Given the description of an element on the screen output the (x, y) to click on. 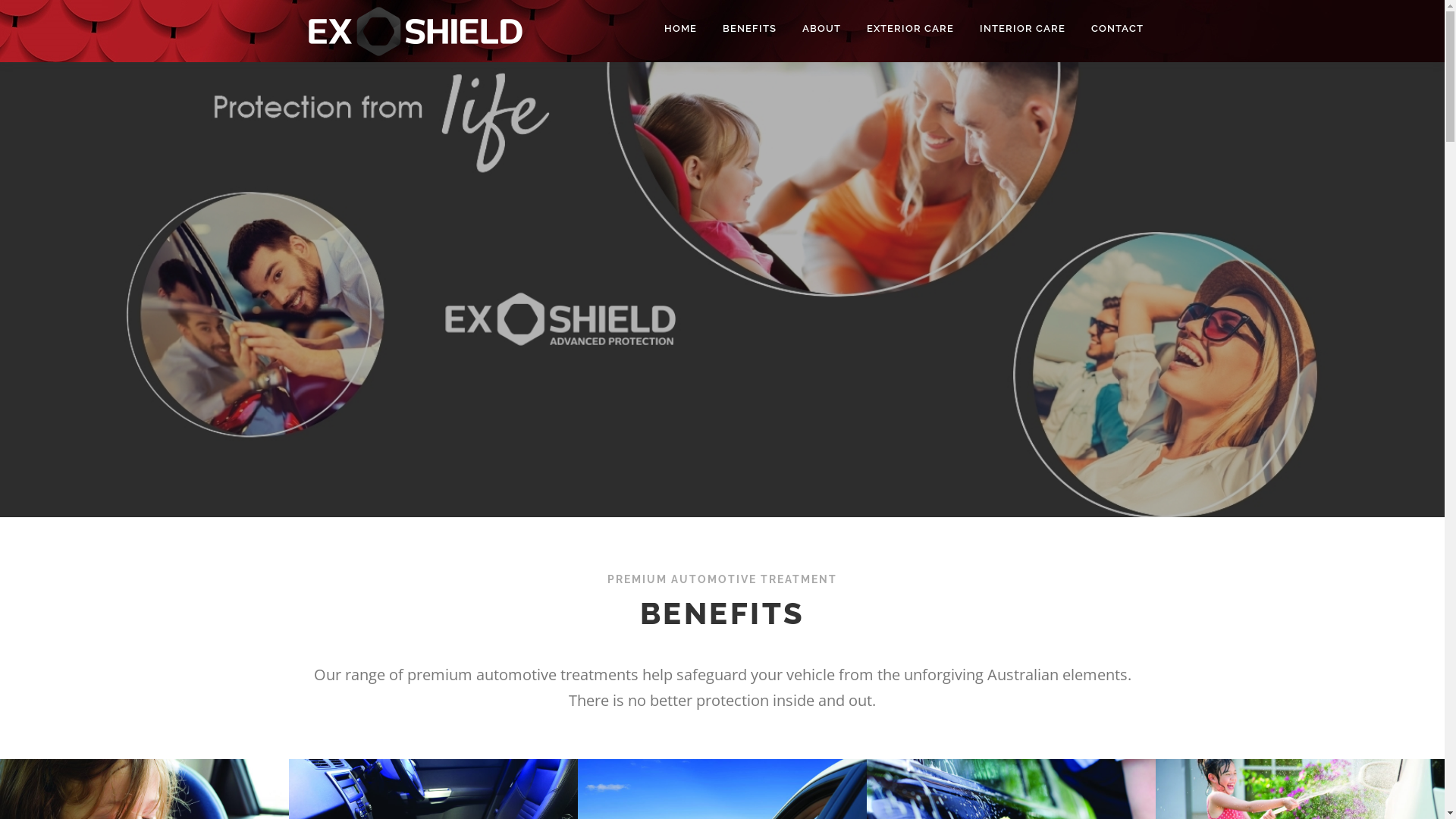
BENEFITS Element type: text (749, 28)
ABOUT Element type: text (820, 28)
HOME Element type: text (679, 28)
INTERIOR CARE Element type: text (1021, 28)
CONTACT Element type: text (1110, 28)
EXTERIOR CARE Element type: text (909, 28)
